Given the description of an element on the screen output the (x, y) to click on. 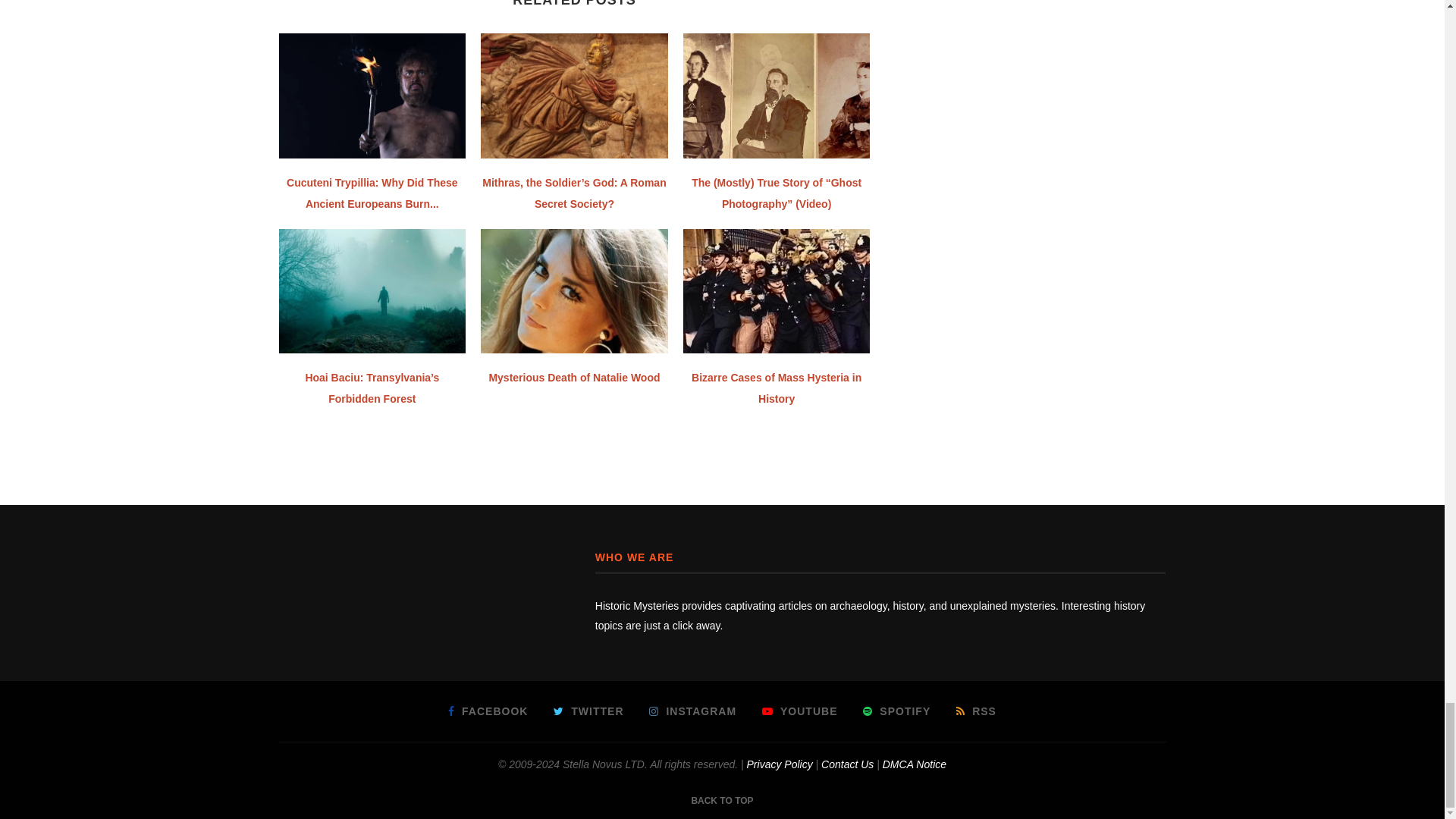
Mysterious Death of Natalie Wood (574, 290)
Bizarre Cases of Mass Hysteria in History (776, 290)
